Given the description of an element on the screen output the (x, y) to click on. 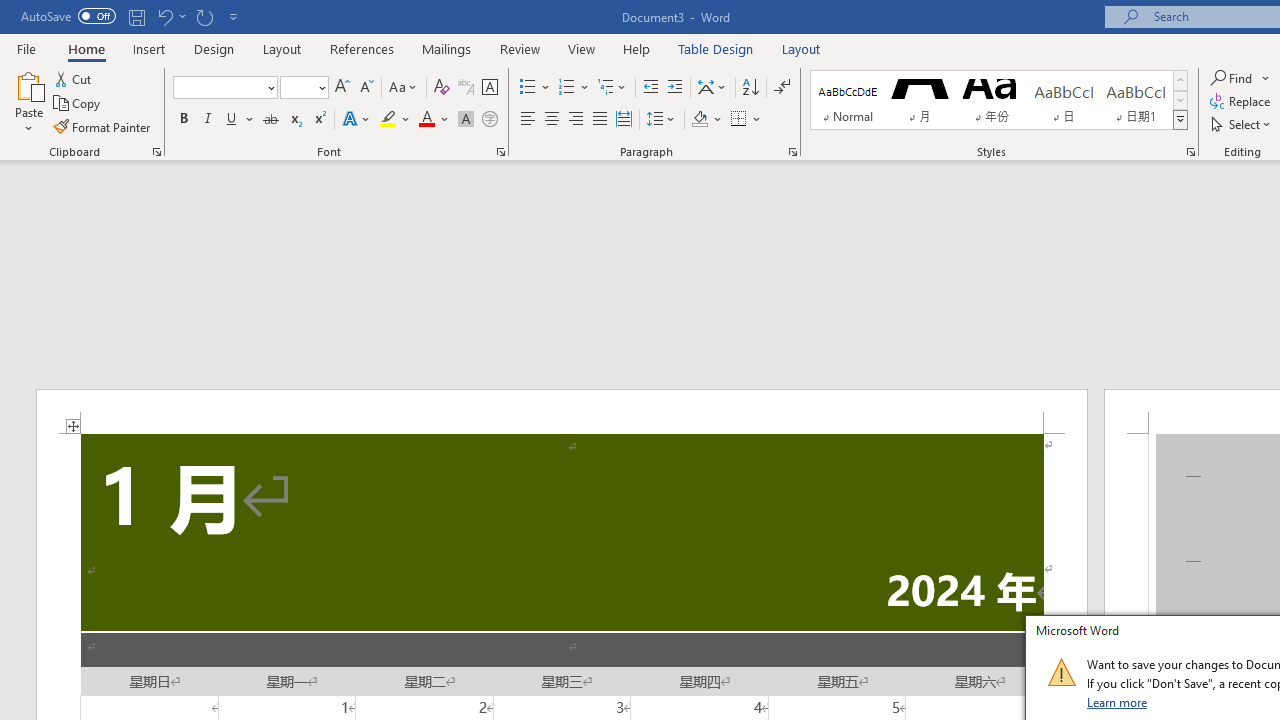
Font (224, 87)
Header -Section 1- (561, 411)
Review (520, 48)
Class: NetUIImage (1061, 671)
AutoSave (68, 16)
Line and Paragraph Spacing (661, 119)
Paste (28, 84)
Help (637, 48)
Numbering (566, 87)
Text Highlight Color (395, 119)
Superscript (319, 119)
View (582, 48)
AutomationID: QuickStylesGallery (999, 99)
Home (86, 48)
Undo Apply Quick Style (164, 15)
